Given the description of an element on the screen output the (x, y) to click on. 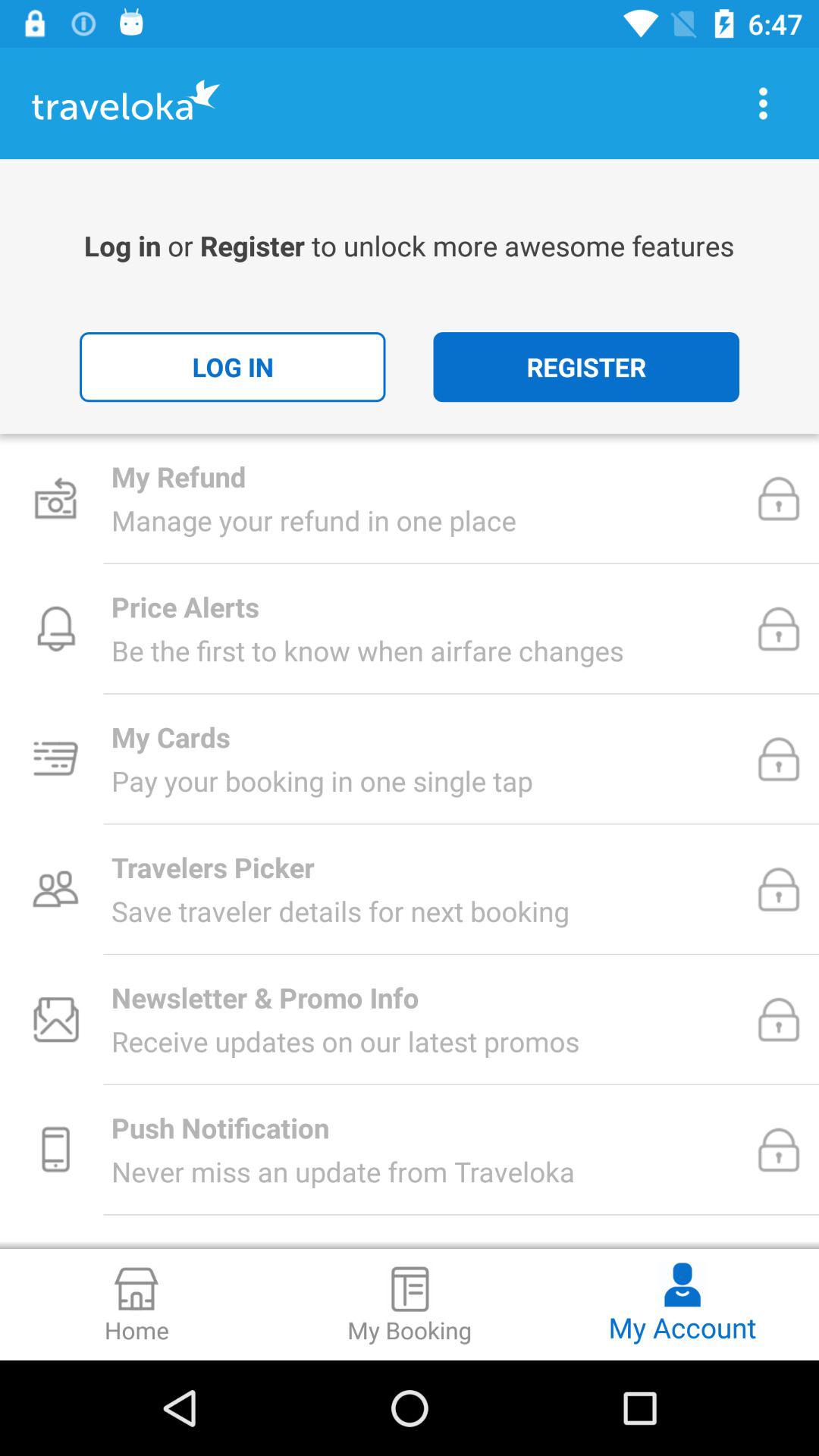
choose item above the log in or item (763, 103)
